Given the description of an element on the screen output the (x, y) to click on. 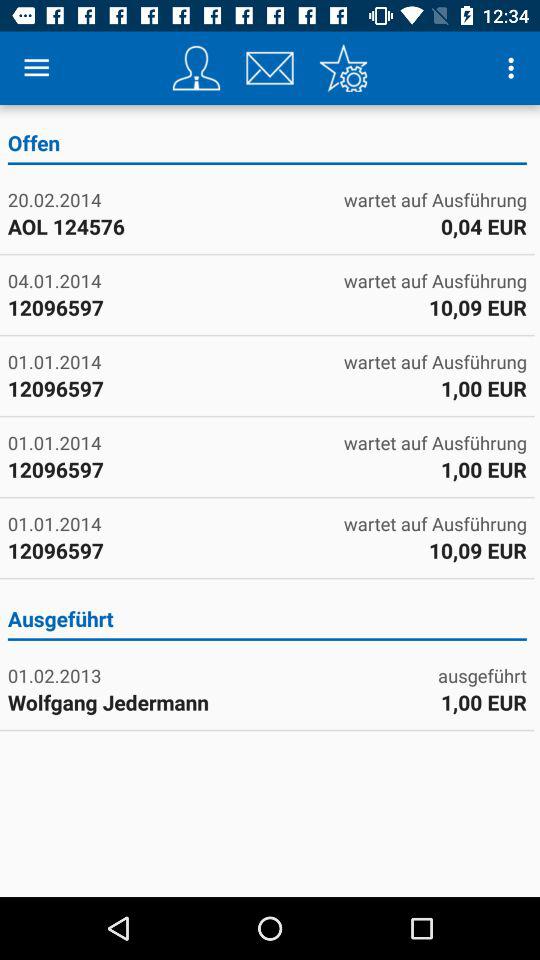
press aol 124576 item (135, 226)
